Given the description of an element on the screen output the (x, y) to click on. 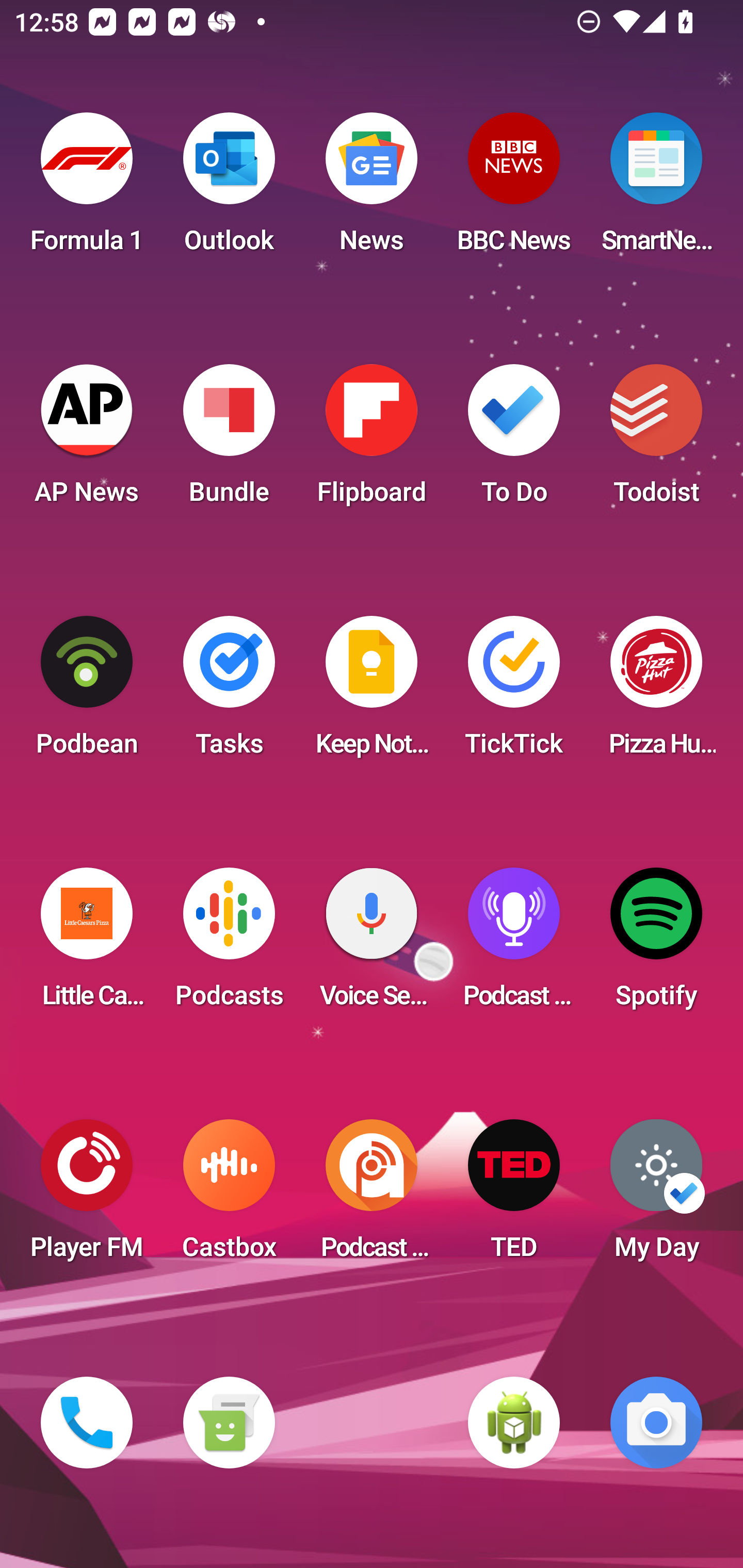
Formula 1 (86, 188)
Outlook (228, 188)
News (371, 188)
BBC News (513, 188)
SmartNews (656, 188)
AP News (86, 440)
Bundle (228, 440)
Flipboard (371, 440)
To Do (513, 440)
Todoist (656, 440)
Podbean (86, 692)
Tasks (228, 692)
Keep Notes (371, 692)
TickTick (513, 692)
Pizza Hut HK & Macau (656, 692)
Little Caesars Pizza (86, 943)
Podcasts (228, 943)
Voice Search (371, 943)
Podcast Player (513, 943)
Spotify (656, 943)
Player FM (86, 1195)
Castbox (228, 1195)
Podcast Addict (371, 1195)
TED (513, 1195)
My Day (656, 1195)
Phone (86, 1422)
Messaging (228, 1422)
WebView Browser Tester (513, 1422)
Camera (656, 1422)
